Given the description of an element on the screen output the (x, y) to click on. 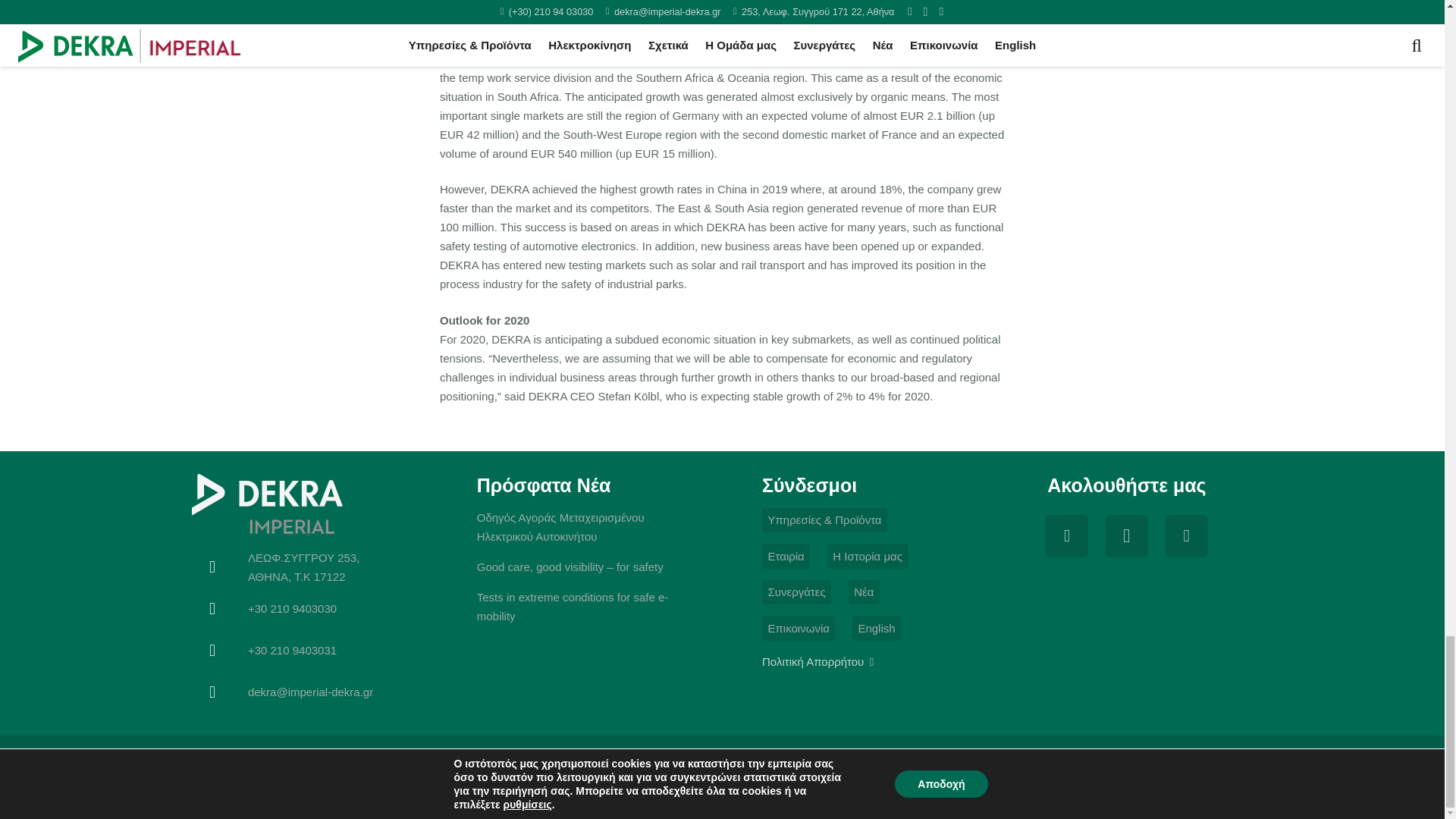
LinkedIn (1185, 535)
Facebook (1066, 535)
Instagram (1126, 535)
